Given the description of an element on the screen output the (x, y) to click on. 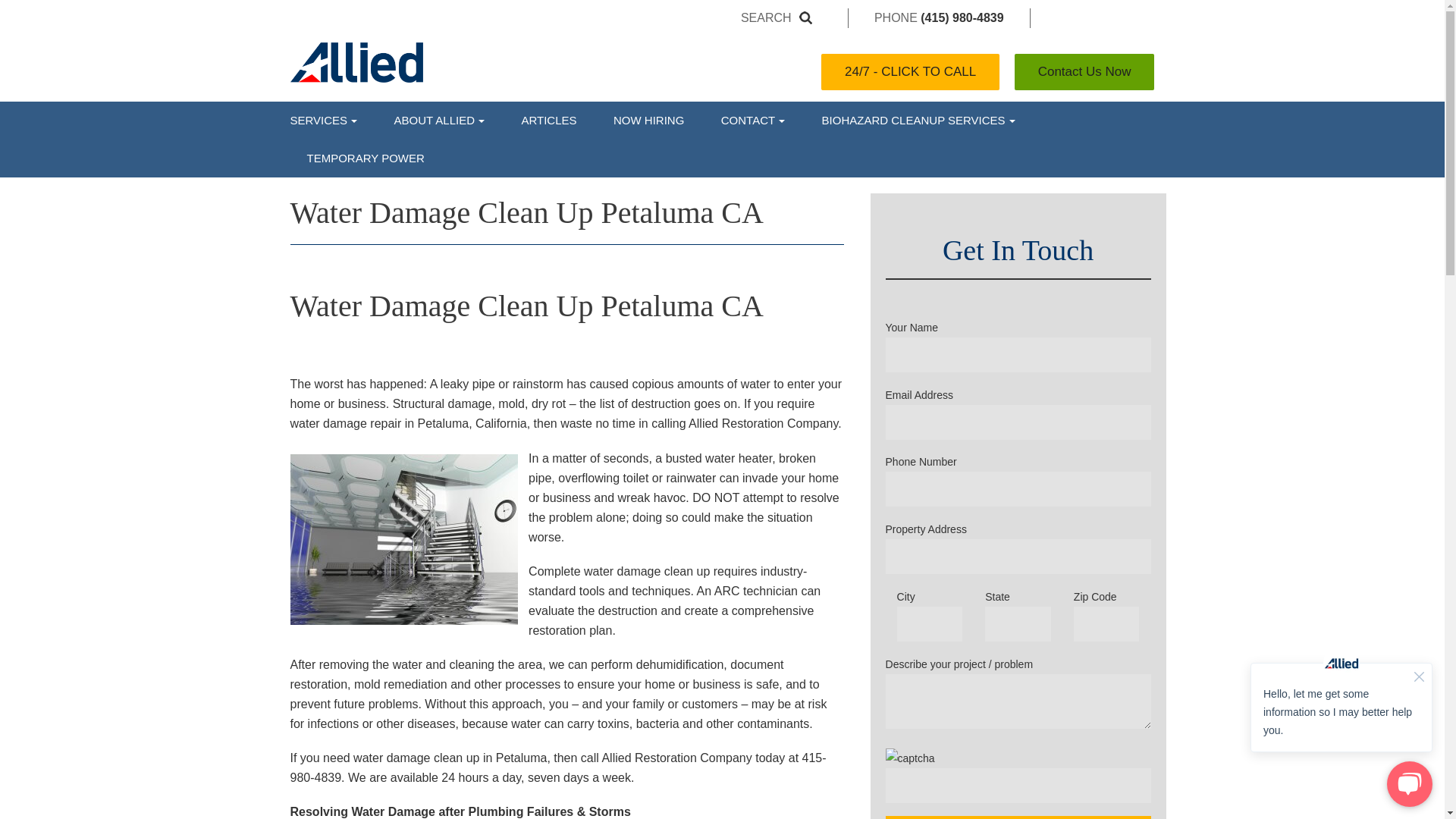
Search (766, 17)
SERVICES (331, 120)
Search (766, 17)
Contact Us Now (1084, 72)
Search (808, 17)
ABOUT ALLIED (438, 120)
Send (1018, 817)
Search (766, 17)
Damage-repair-tips (547, 120)
